Given the description of an element on the screen output the (x, y) to click on. 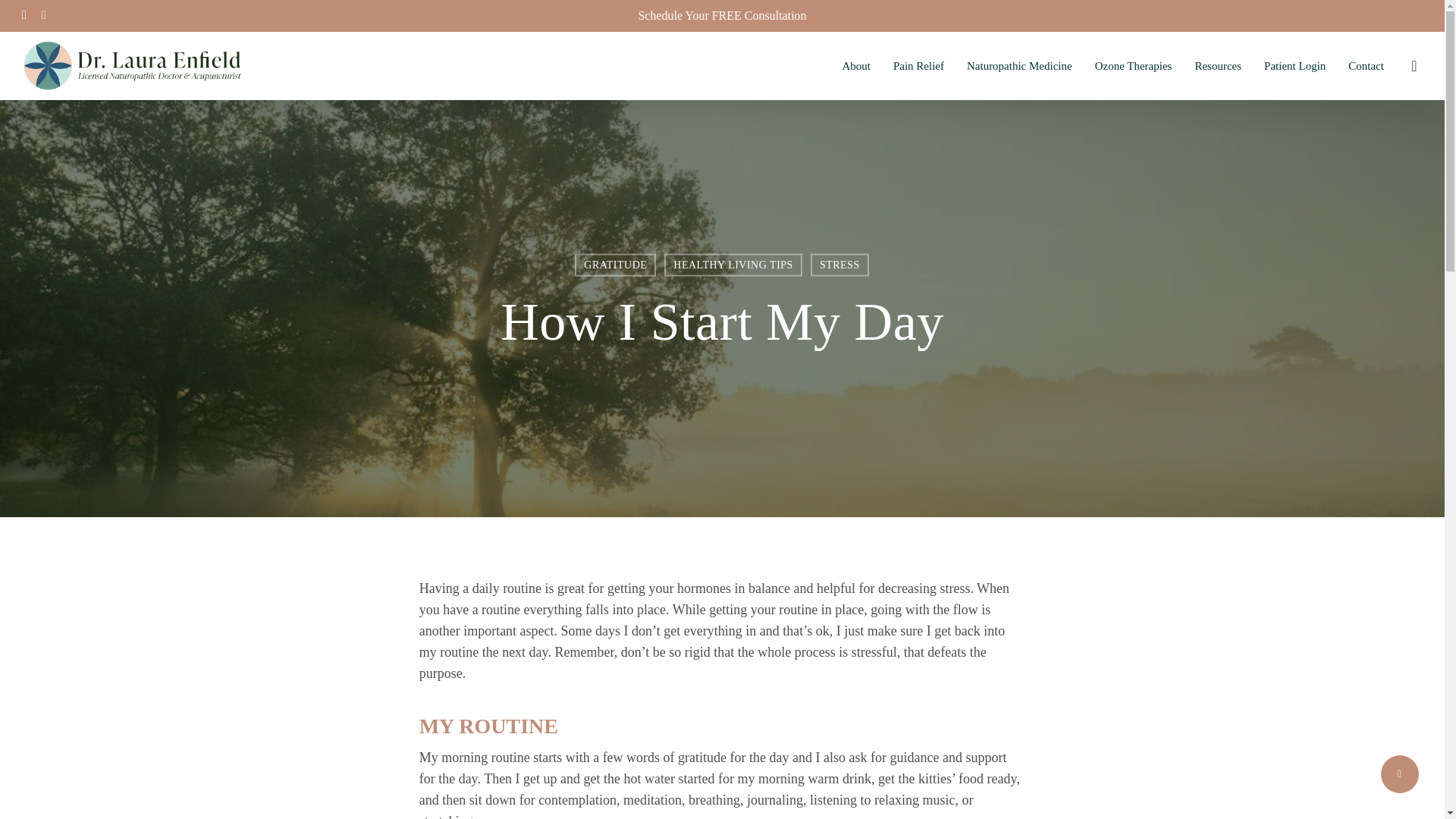
GRATITUDE (615, 264)
About (855, 65)
Resources (1217, 65)
Ozone Therapies (1133, 65)
Naturopathic Medicine (1018, 65)
Schedule Your FREE Consultation (721, 15)
HEALTHY LIVING TIPS (732, 264)
Contact (1366, 65)
STRESS (839, 264)
Patient Login (1293, 65)
